Given the description of an element on the screen output the (x, y) to click on. 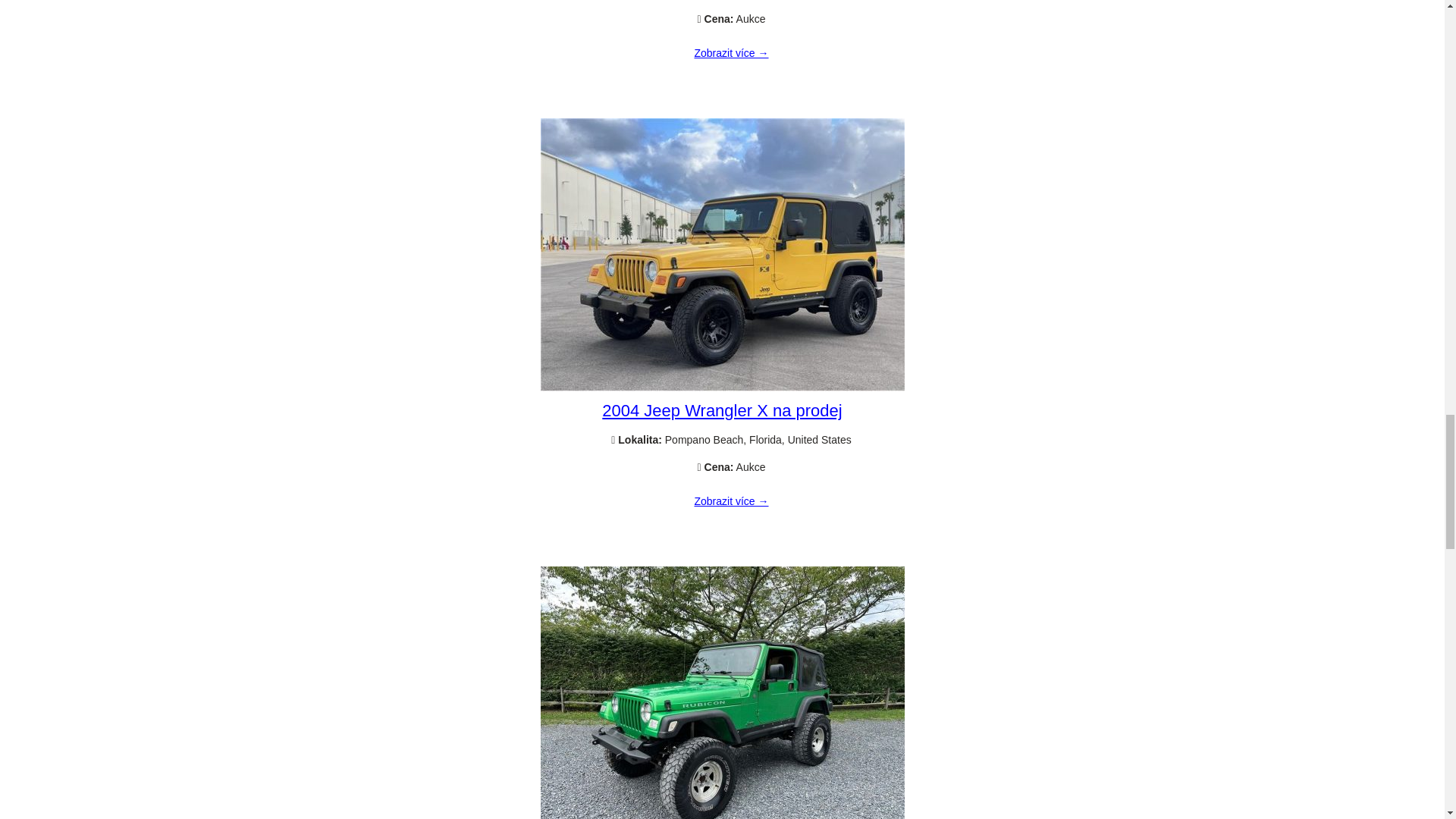
2004 Jeep Wrangler X na prodej (722, 387)
2004 Jeep Wrangler X na prodej (721, 410)
2004 Jeep Wrangler X na prodej (731, 501)
2004 Jeep Wrangler NO Reserve 62K 4X4 JEEP na prodej (731, 53)
